Given the description of an element on the screen output the (x, y) to click on. 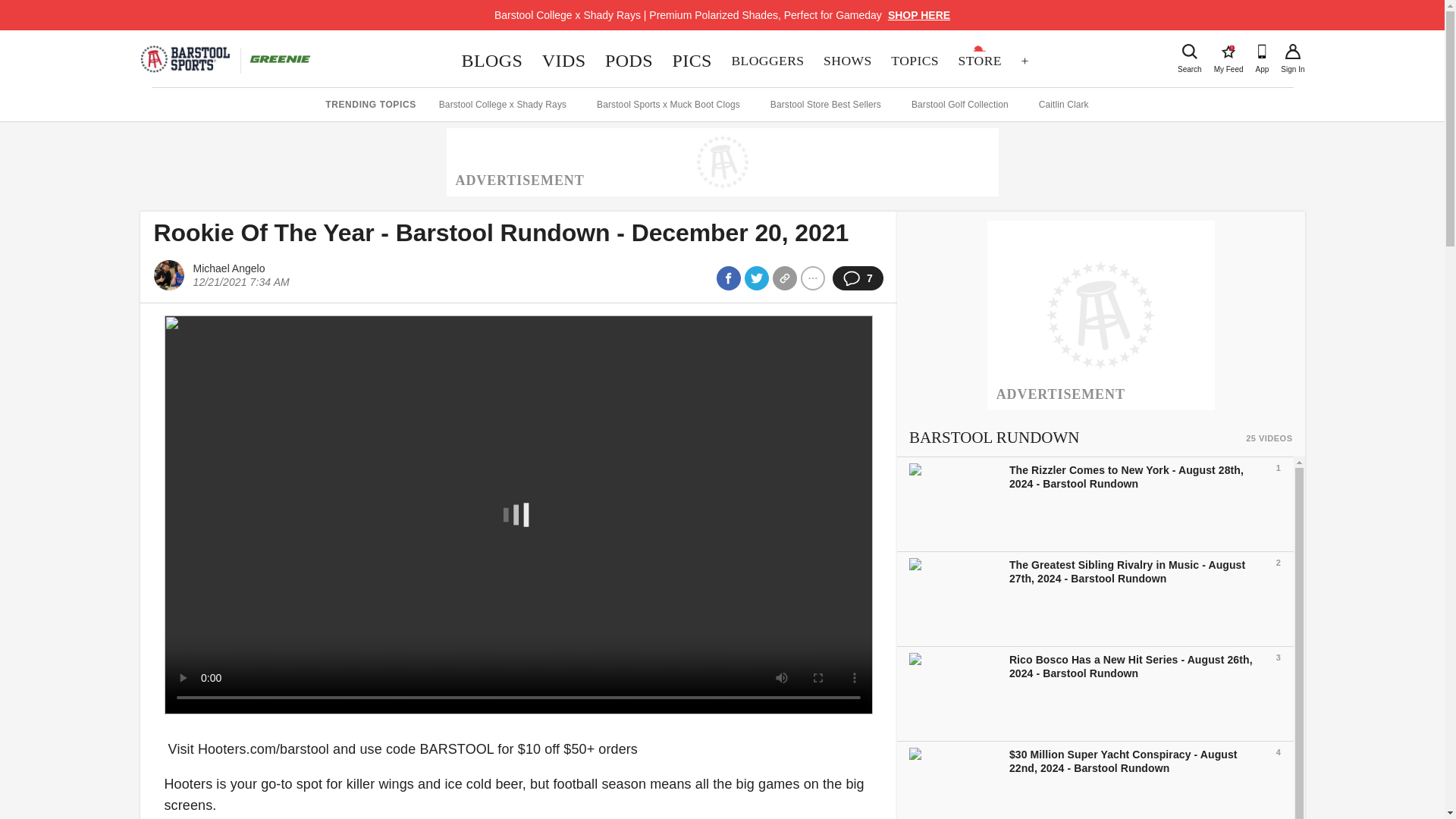
Search (1189, 51)
SHOWS (846, 60)
SHOP HERE (919, 15)
VIDS (563, 60)
PICS (692, 60)
Sign Up (1292, 51)
BLOGS (1228, 51)
TOPICS (491, 60)
STORE (913, 60)
